Given the description of an element on the screen output the (x, y) to click on. 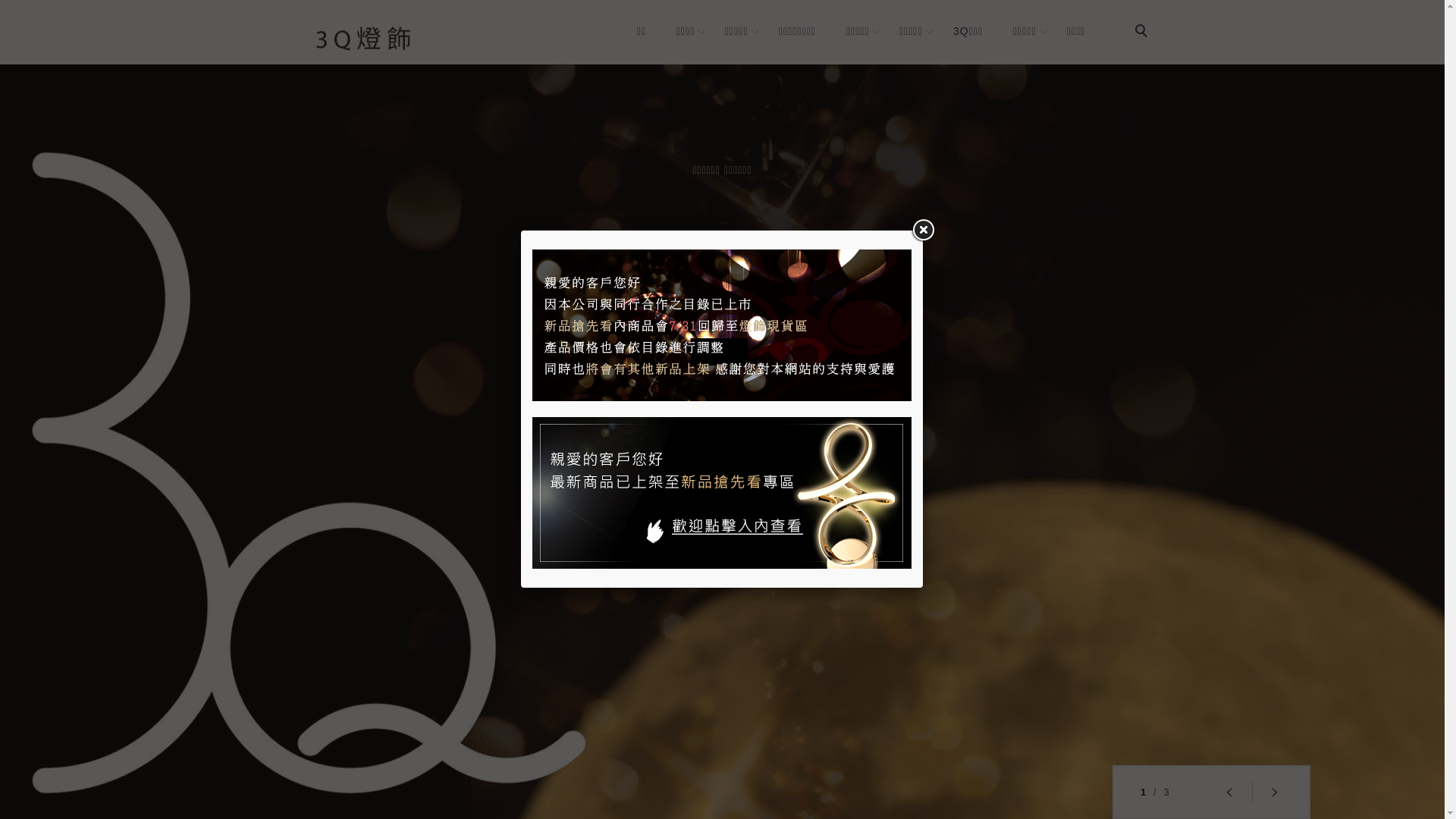
1 Element type: text (1142, 792)
Previous Element type: text (1228, 792)
Next Element type: text (1273, 792)
Close Element type: hover (922, 230)
